Given the description of an element on the screen output the (x, y) to click on. 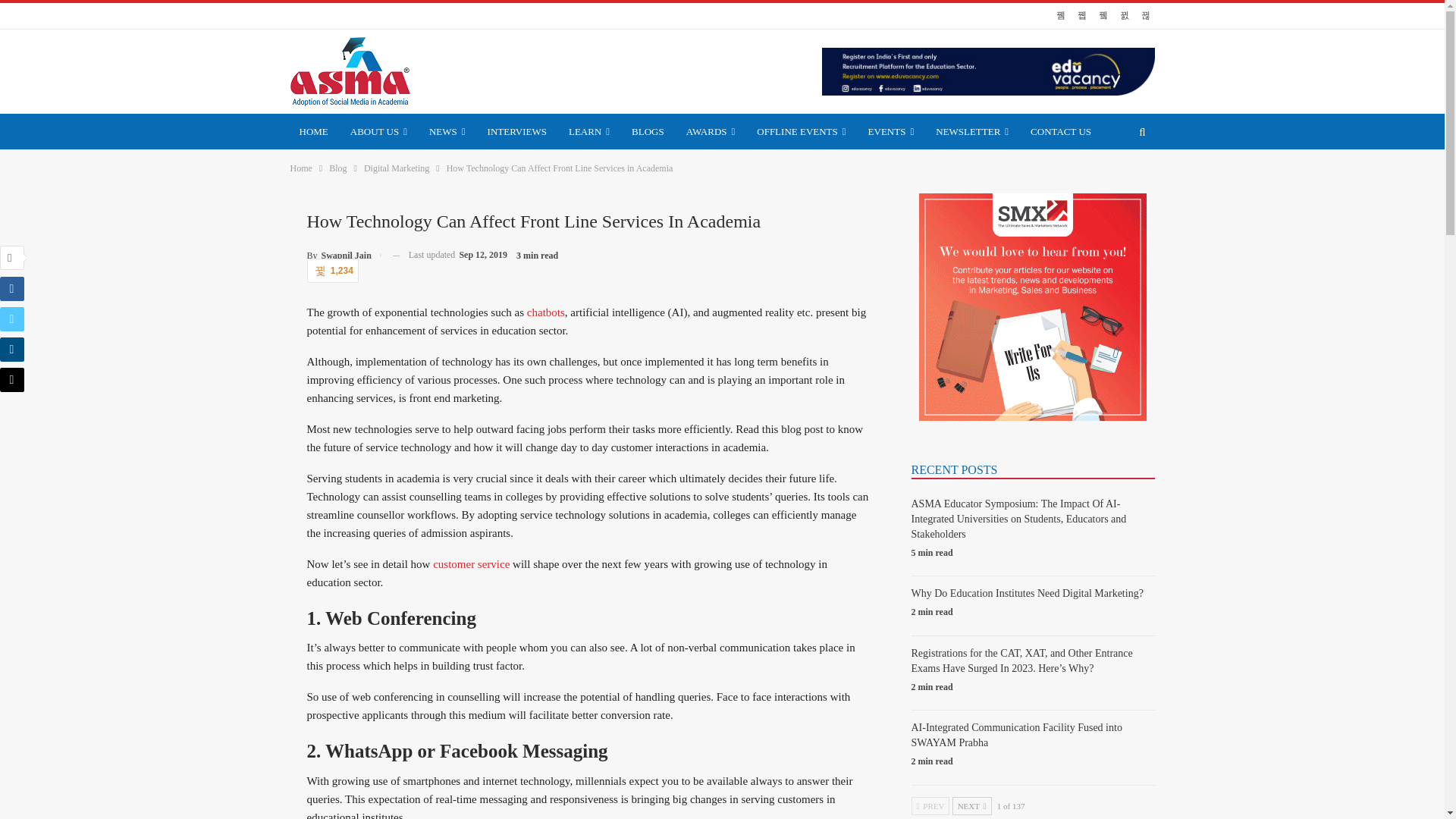
ABOUT US (378, 131)
LEARN (588, 131)
AWARDS (710, 131)
Browse Author Articles (342, 254)
NEWS (447, 131)
INTERVIEWS (517, 131)
HOME (312, 131)
BLOGS (647, 131)
